Given the description of an element on the screen output the (x, y) to click on. 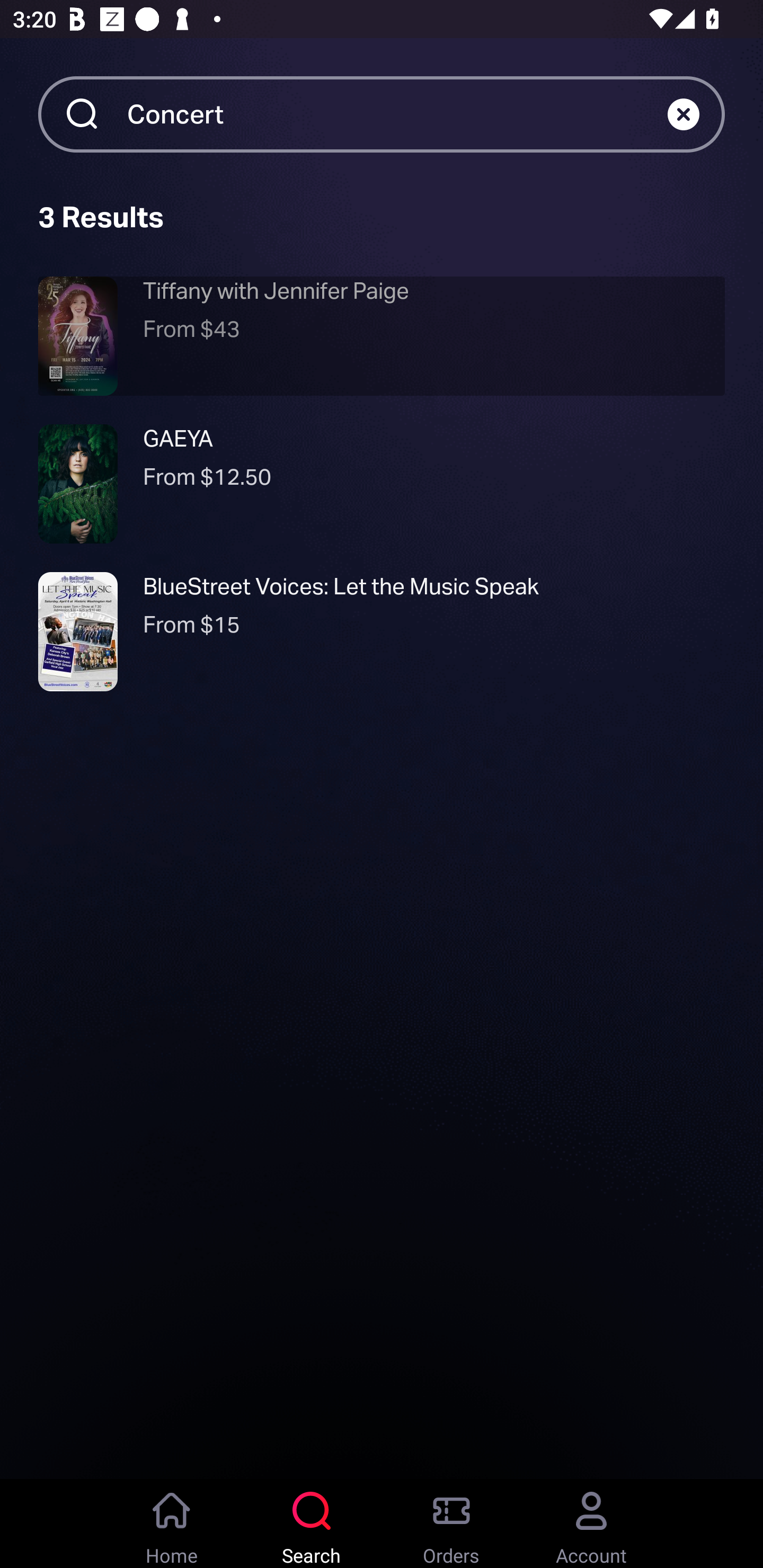
Concert (397, 113)
GAEYA $12.50  GAEYA From $12.50 (381, 484)
Home (171, 1523)
Orders (451, 1523)
Account (591, 1523)
